Given the description of an element on the screen output the (x, y) to click on. 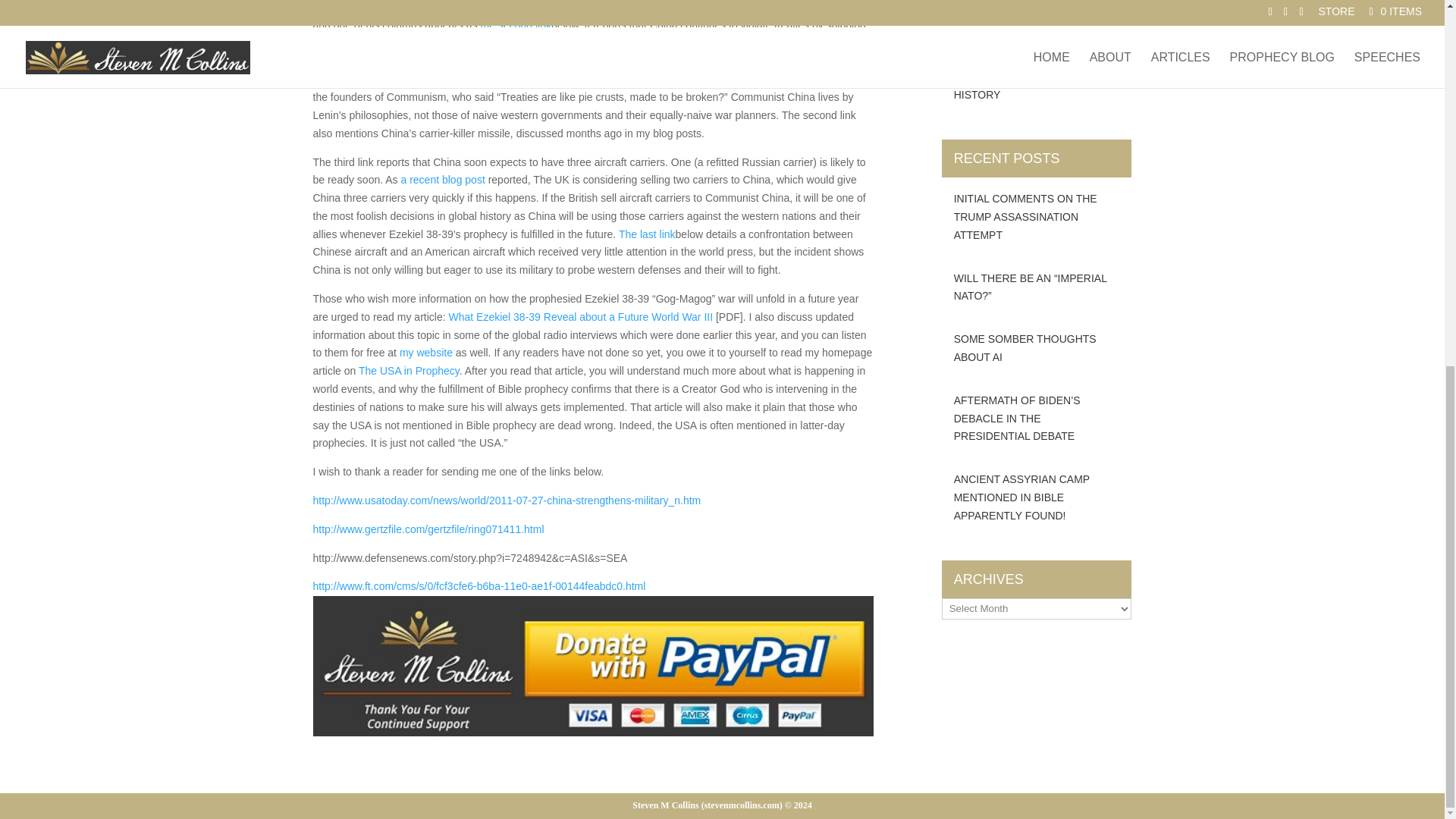
The USA in Prophecy (409, 370)
The last link (646, 234)
my website (425, 352)
the second link (515, 24)
The Accelerating Decline of Great Britain (442, 179)
a recent blog post (442, 179)
What Ezekiel 38-39 Reveal about a Future World War III (580, 316)
